Given the description of an element on the screen output the (x, y) to click on. 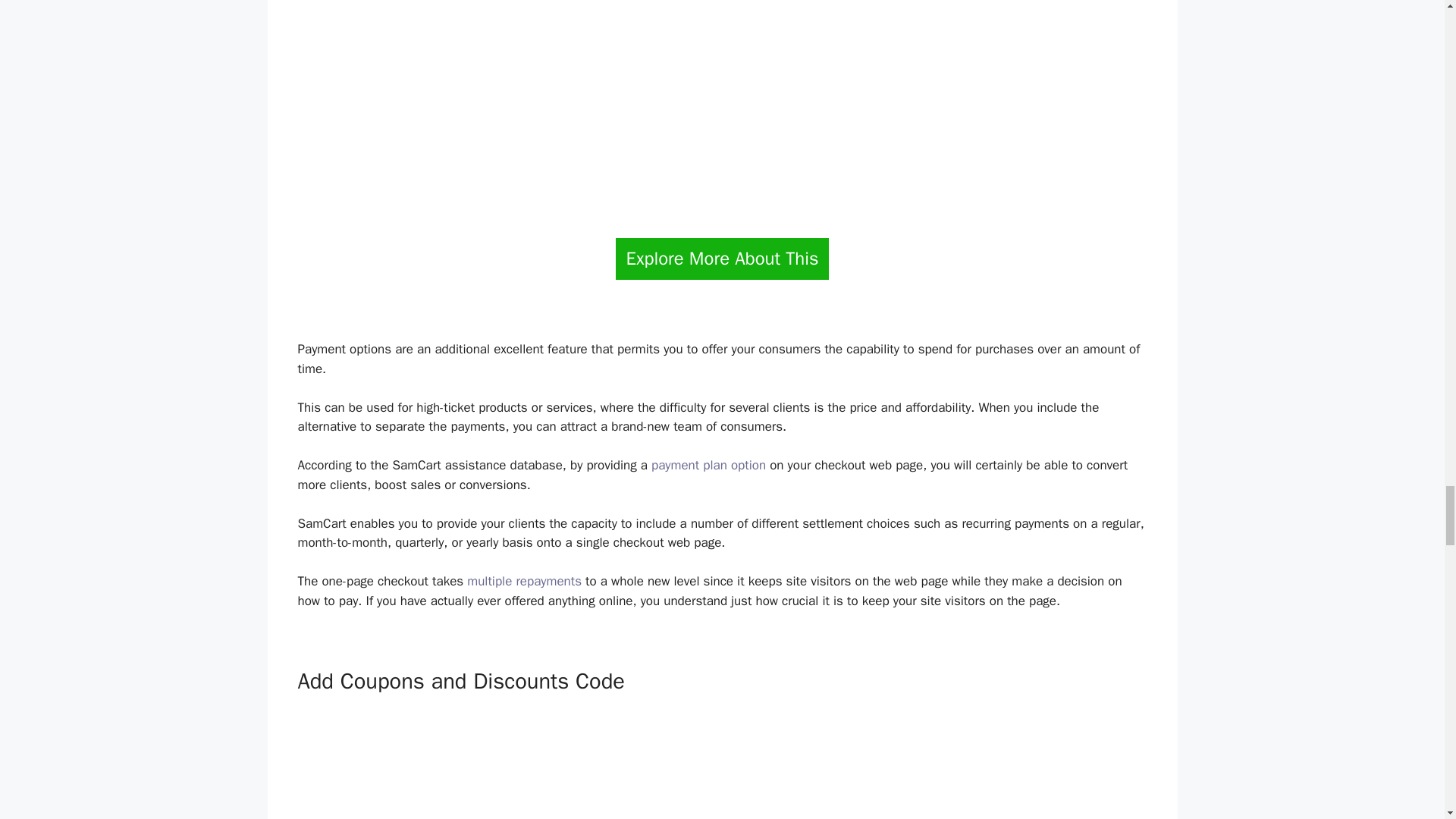
Explore More About This (721, 259)
payment plan option (707, 465)
multiple repayments (523, 580)
